Given the description of an element on the screen output the (x, y) to click on. 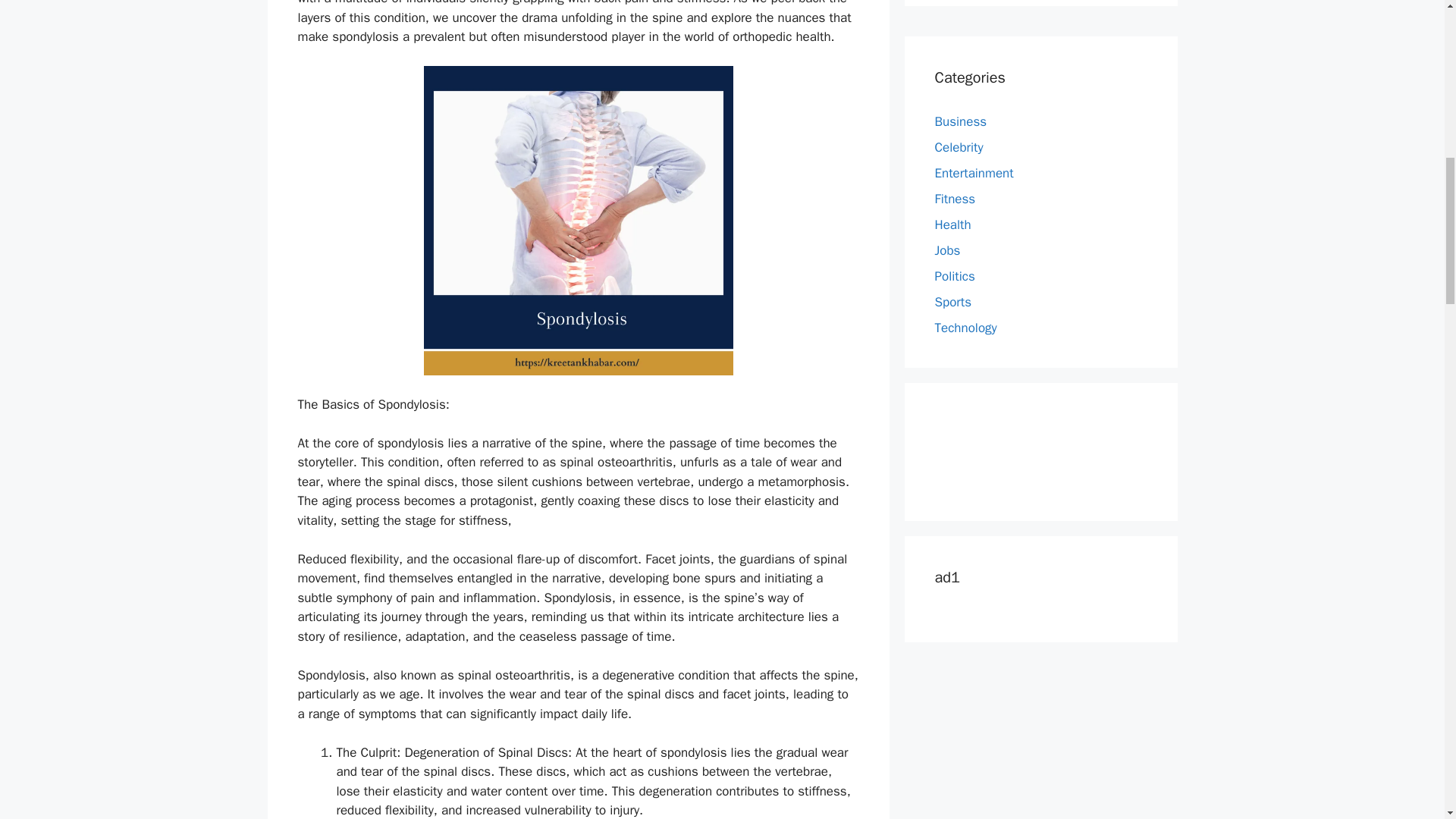
Jobs (946, 250)
Sports (952, 302)
Celebrity (958, 147)
Fitness (954, 198)
Technology (964, 327)
Business (960, 121)
Health (952, 224)
Entertainment (973, 172)
Politics (954, 276)
